Given the description of an element on the screen output the (x, y) to click on. 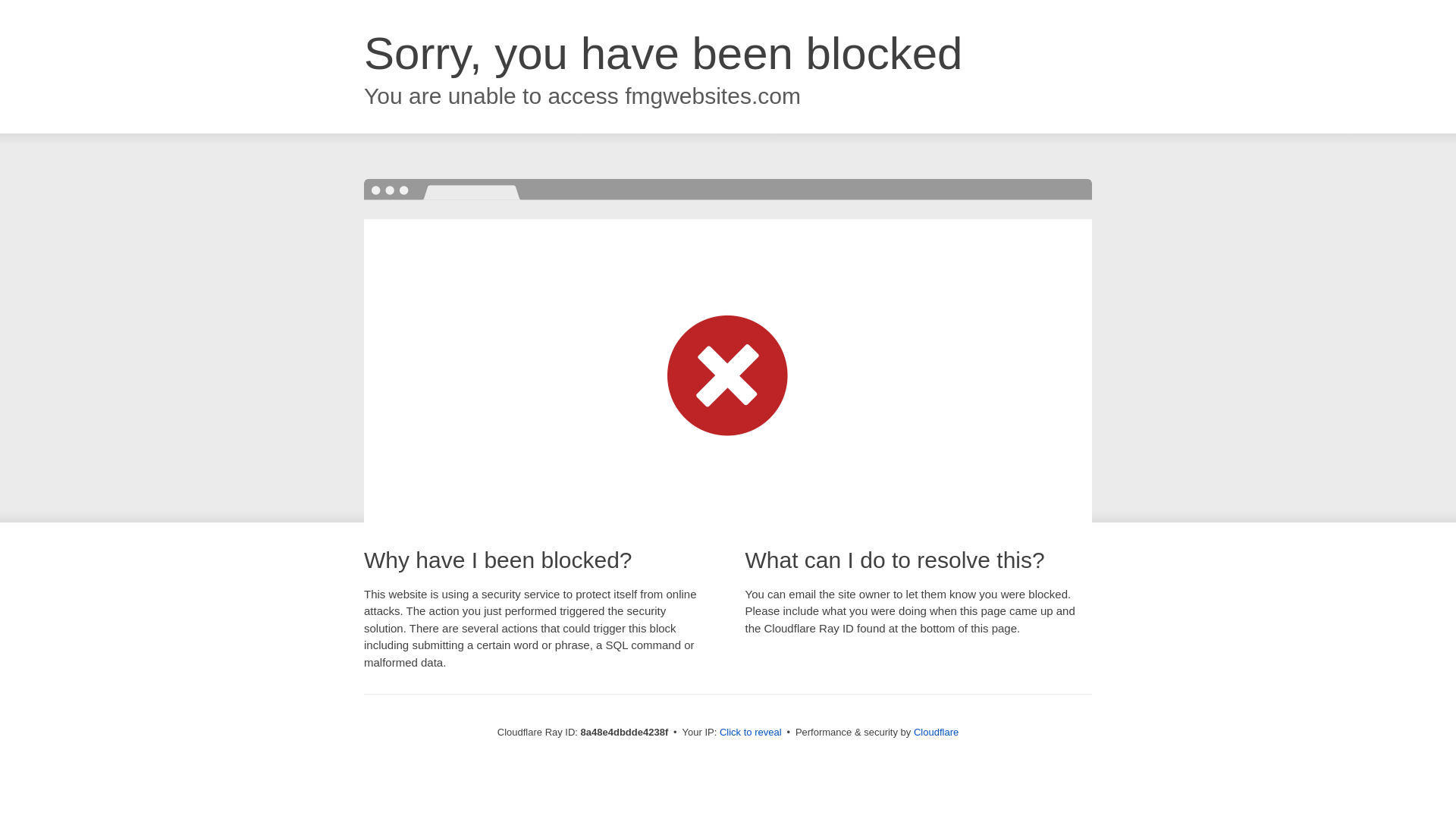
Cloudflare (936, 731)
Click to reveal (750, 732)
